Given the description of an element on the screen output the (x, y) to click on. 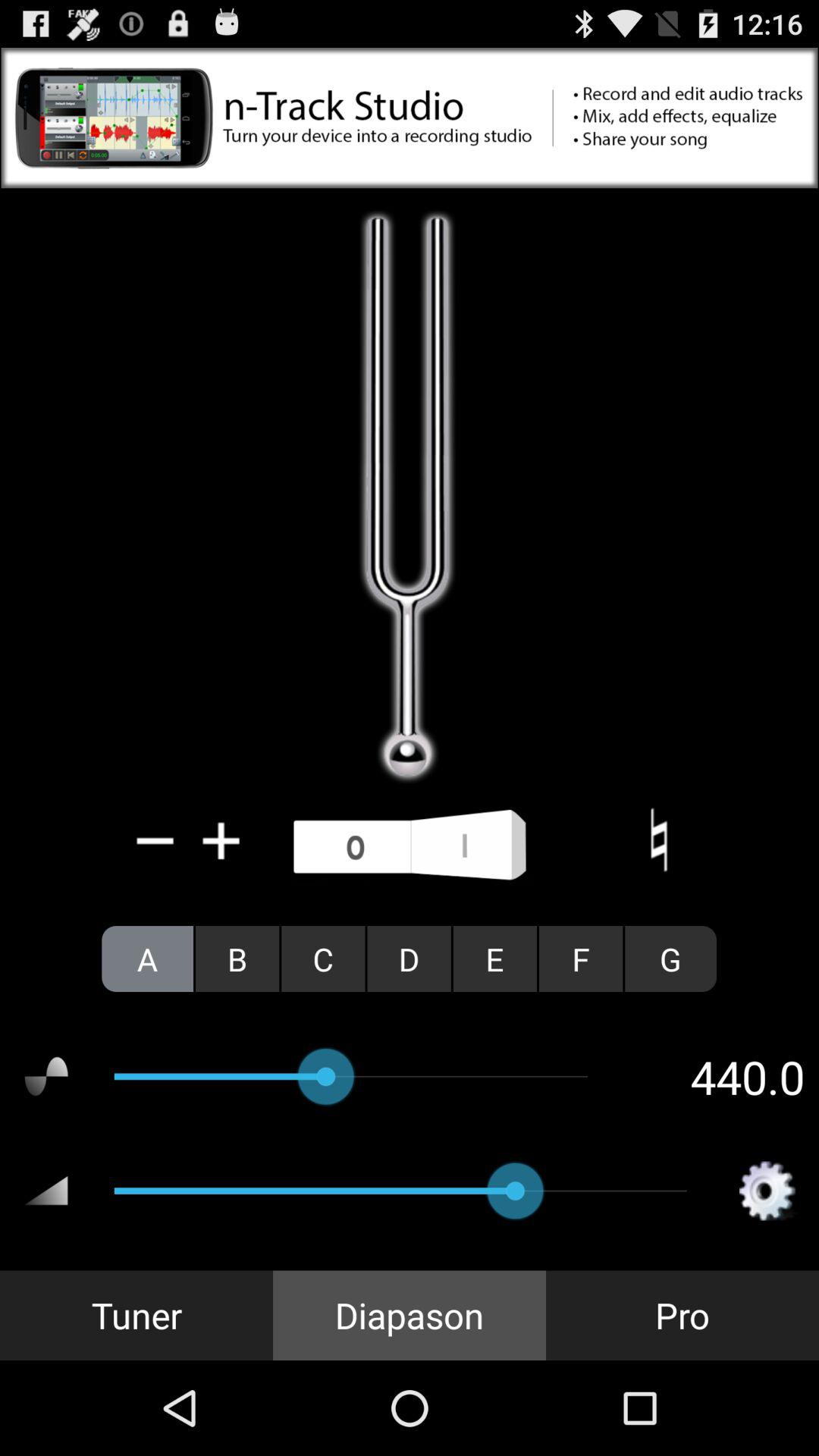
flip until b radio button (237, 958)
